Given the description of an element on the screen output the (x, y) to click on. 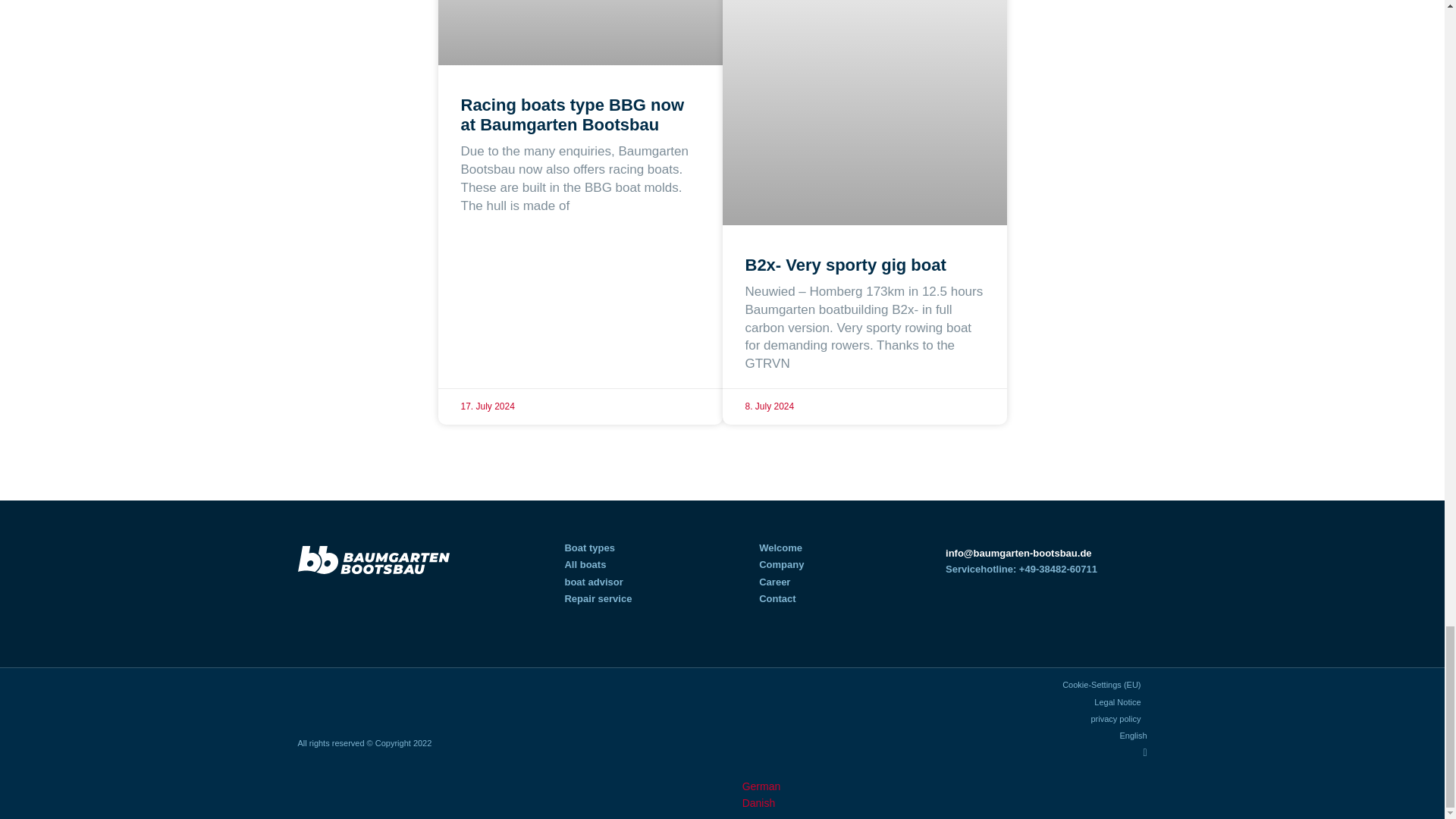
Racing boats type BBG now at Baumgarten Bootsbau (572, 114)
German (754, 786)
All boats (584, 564)
B2x- Very sporty gig boat (844, 264)
English (938, 751)
Boat types (589, 547)
Danish (751, 802)
